Given the description of an element on the screen output the (x, y) to click on. 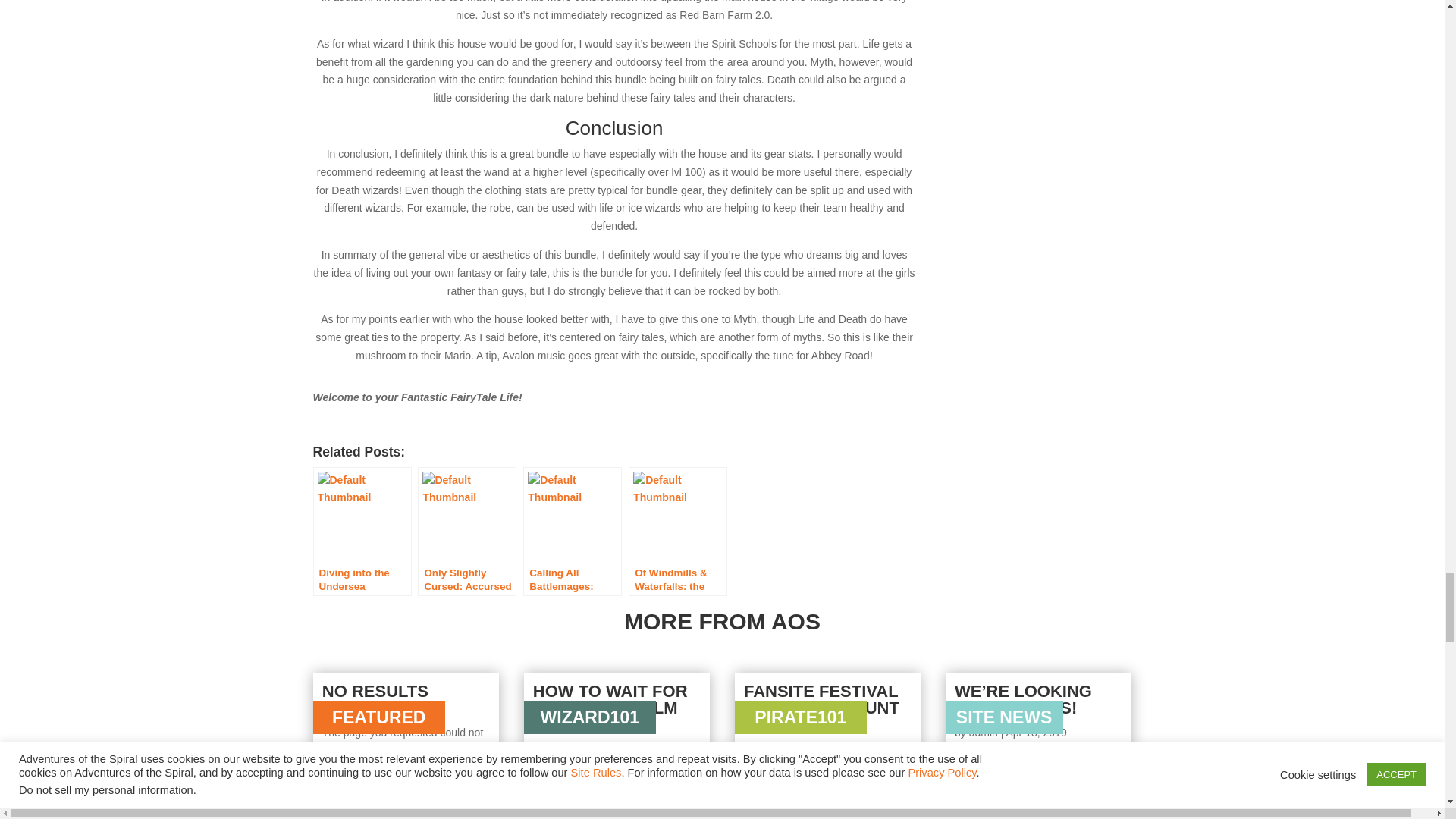
Posts by admin (983, 732)
Posts by admin (561, 748)
Posts by admin (772, 748)
